Given the description of an element on the screen output the (x, y) to click on. 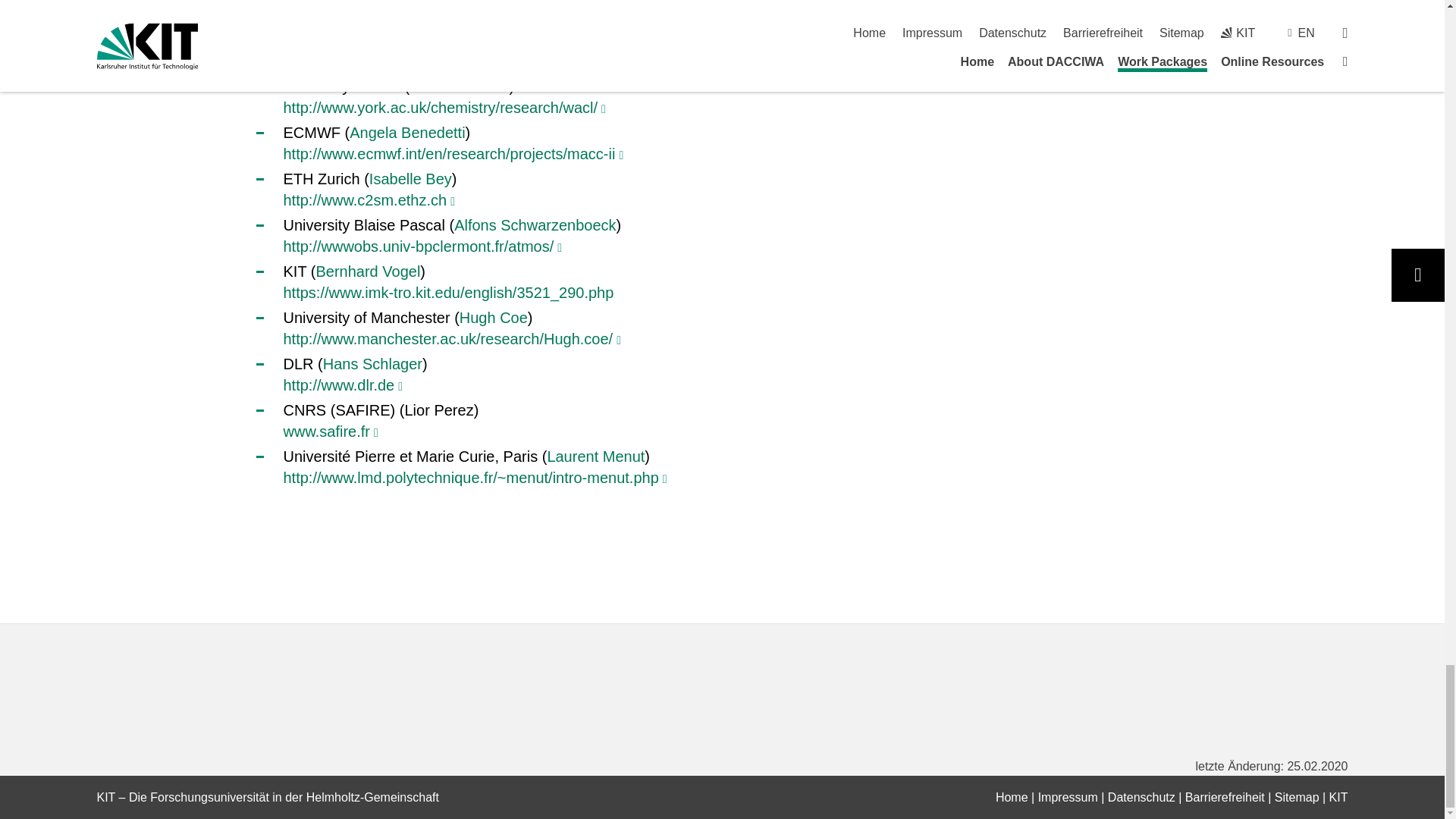
Startseite (1011, 797)
